Given the description of an element on the screen output the (x, y) to click on. 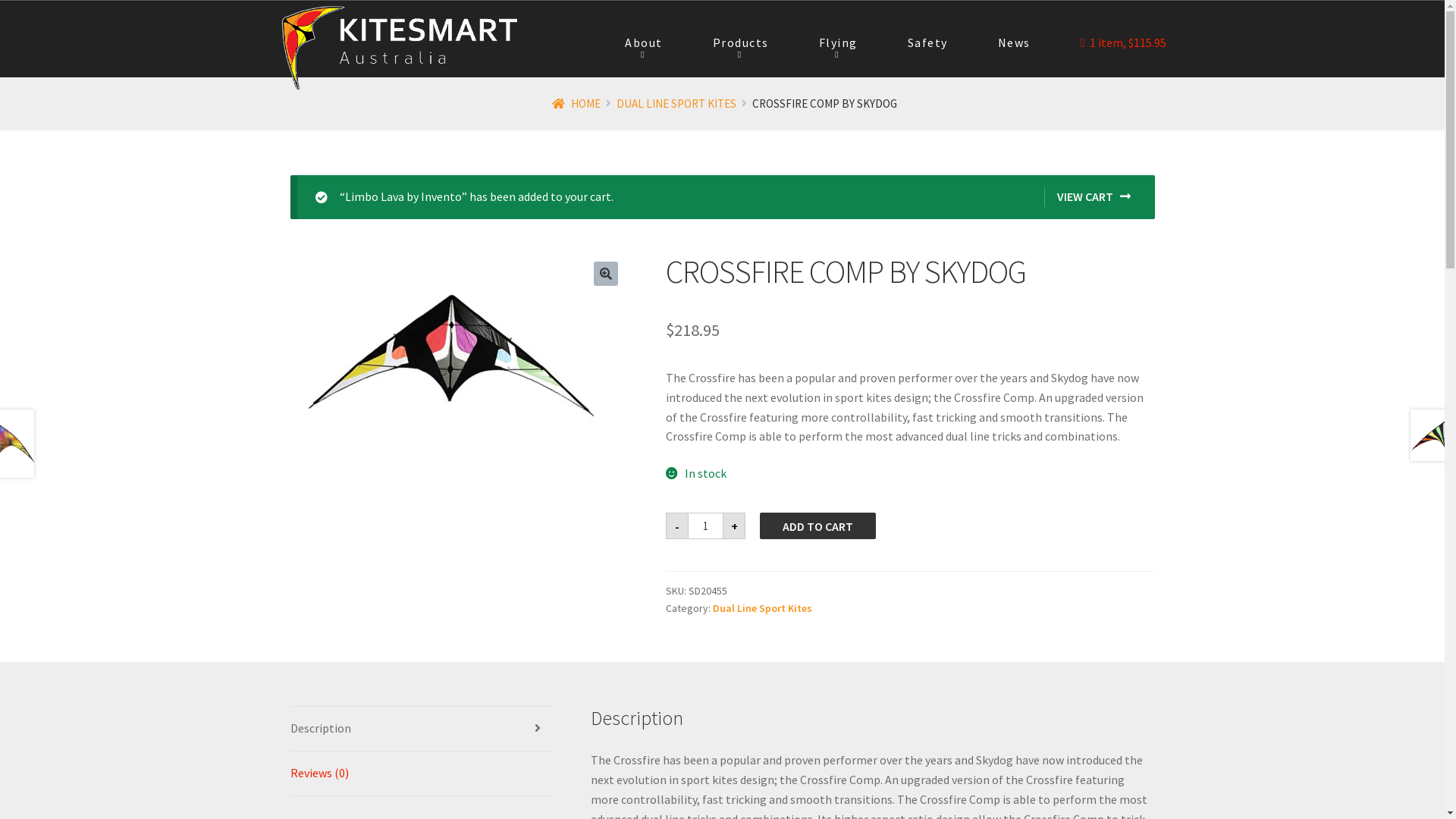
VIEW CART Element type: text (1087, 197)
Qty Element type: hover (705, 525)
Products Element type: text (740, 43)
DUAL LINE SPORT KITES Element type: text (676, 103)
+ Element type: text (733, 525)
Dual Line Sport Kites Element type: text (762, 608)
News Element type: text (1013, 43)
Flying Element type: text (838, 43)
  1 item, $115.95 Element type: text (1123, 43)
ADD TO CART Element type: text (817, 525)
Description Element type: text (420, 728)
HOME Element type: text (576, 103)
Safety Element type: text (927, 43)
- Element type: text (676, 525)
Reviews (0) Element type: text (420, 773)
90.jpg Element type: hover (447, 369)
About Element type: text (643, 43)
